Given the description of an element on the screen output the (x, y) to click on. 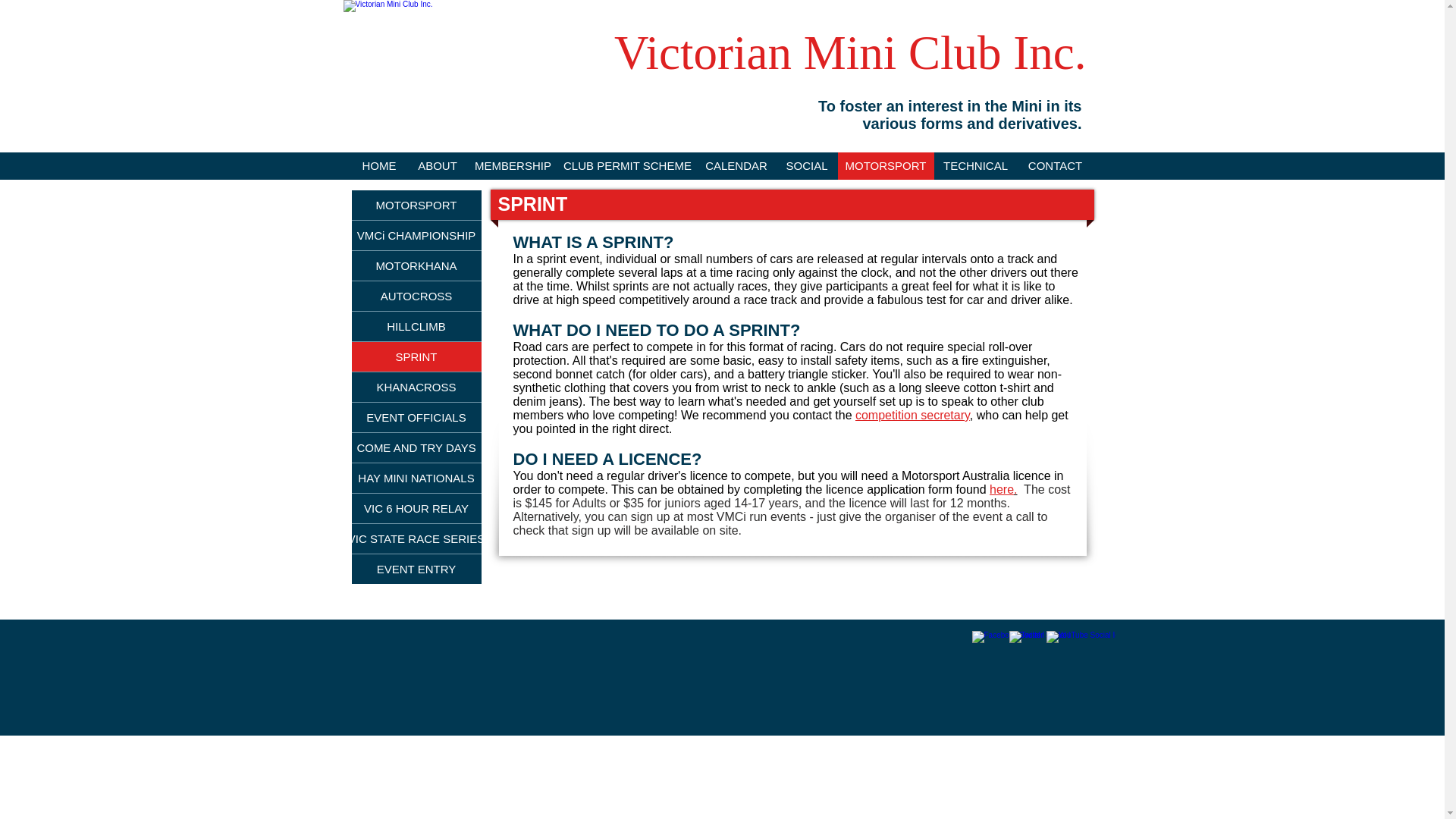
CALENDAR (735, 165)
MOTORSPORT (885, 165)
TECHNICAL (975, 165)
Victorian Mini Club Inc. (448, 64)
SOCIAL (807, 165)
MEMBERSHIP (512, 165)
CLUB PERMIT SCHEME (626, 165)
HOME (378, 165)
ABOUT (437, 165)
